Given the description of an element on the screen output the (x, y) to click on. 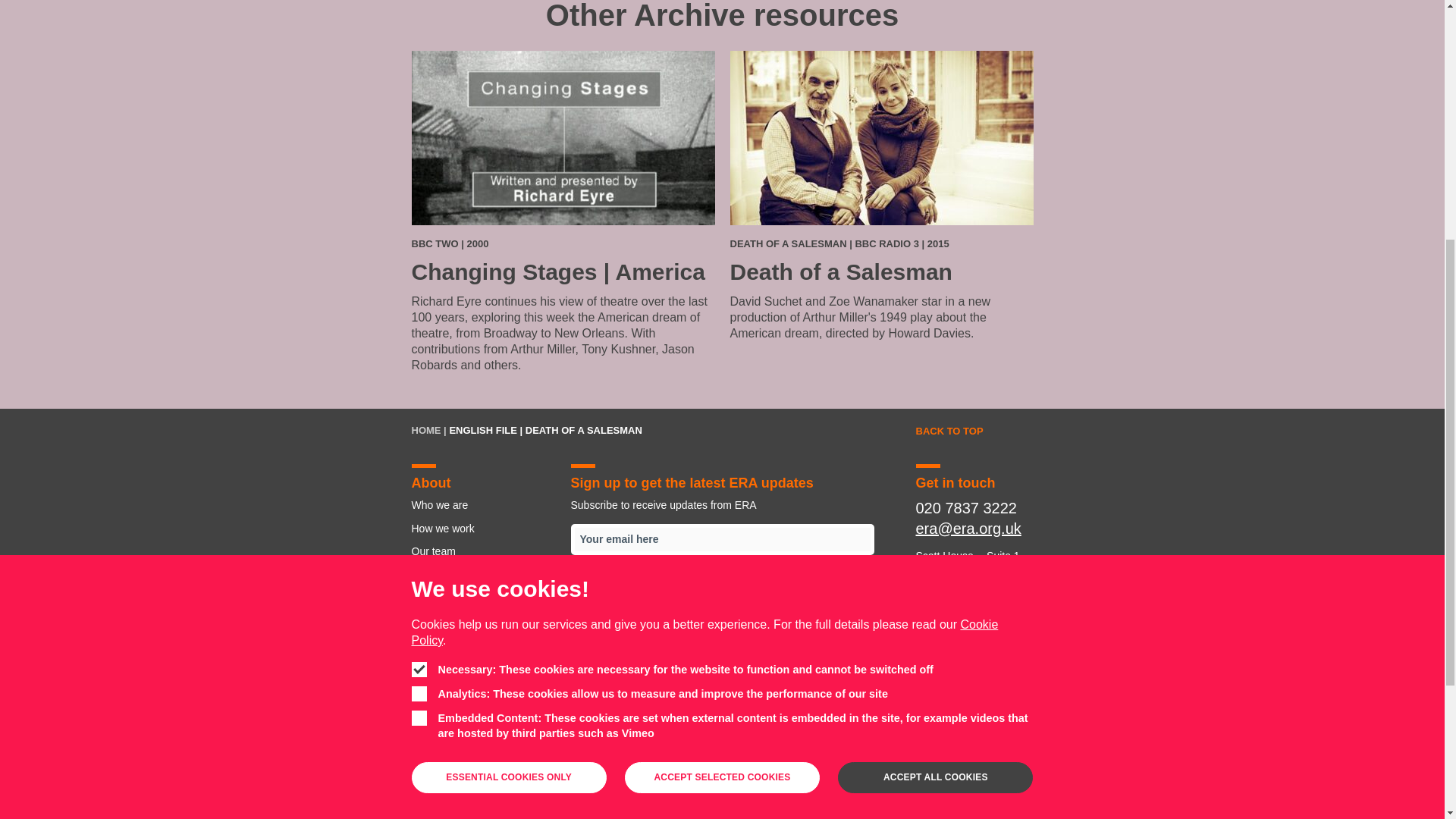
Accessibility Statement (482, 666)
Who we are (482, 504)
Organisations we represent (641, 757)
Updates (482, 643)
Organisations we represent (482, 573)
privacy policy (698, 631)
HOME (425, 430)
Our team (482, 550)
Who we are (435, 757)
Governance (732, 757)
